Given the description of an element on the screen output the (x, y) to click on. 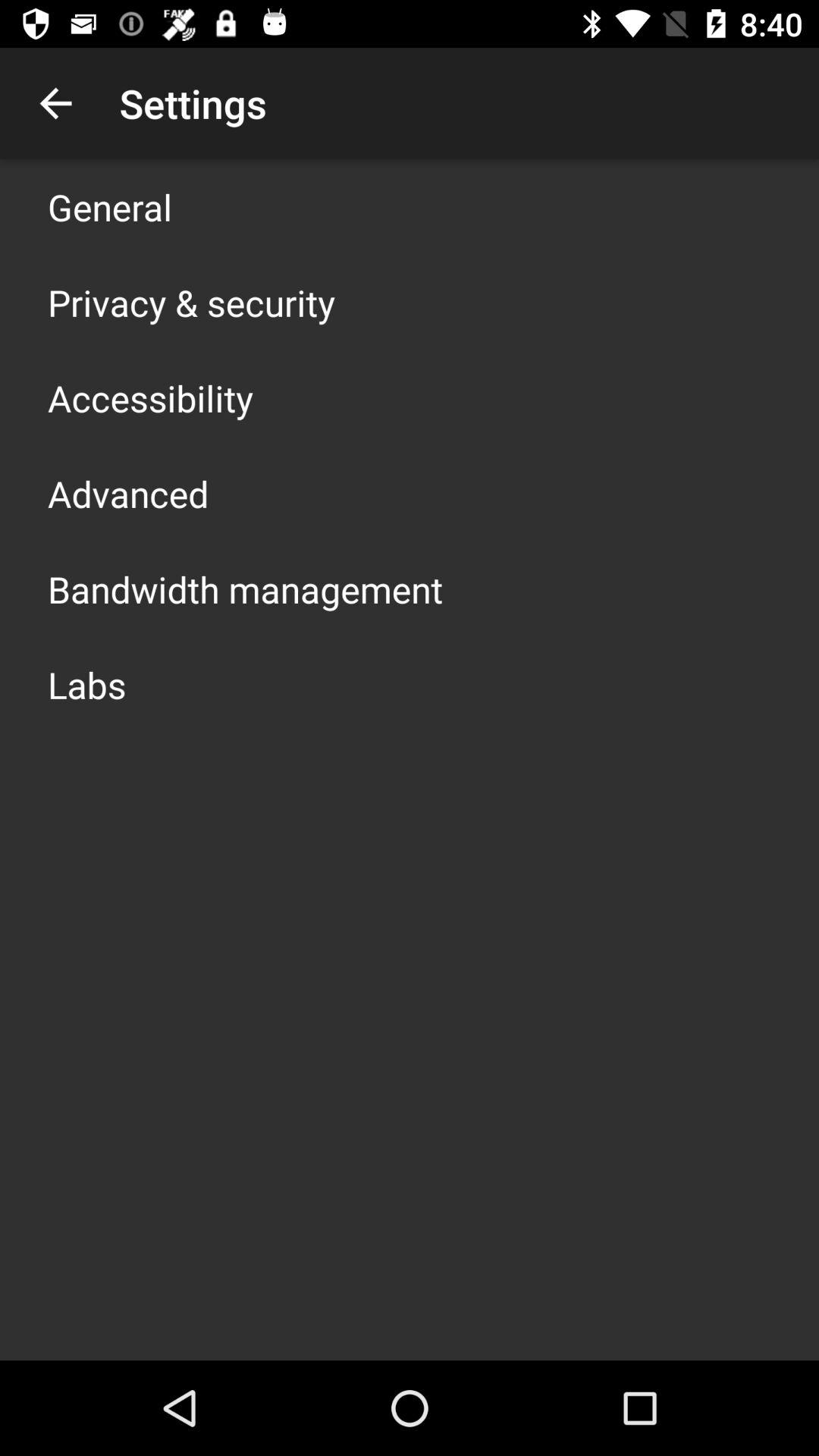
choose accessibility icon (150, 397)
